Given the description of an element on the screen output the (x, y) to click on. 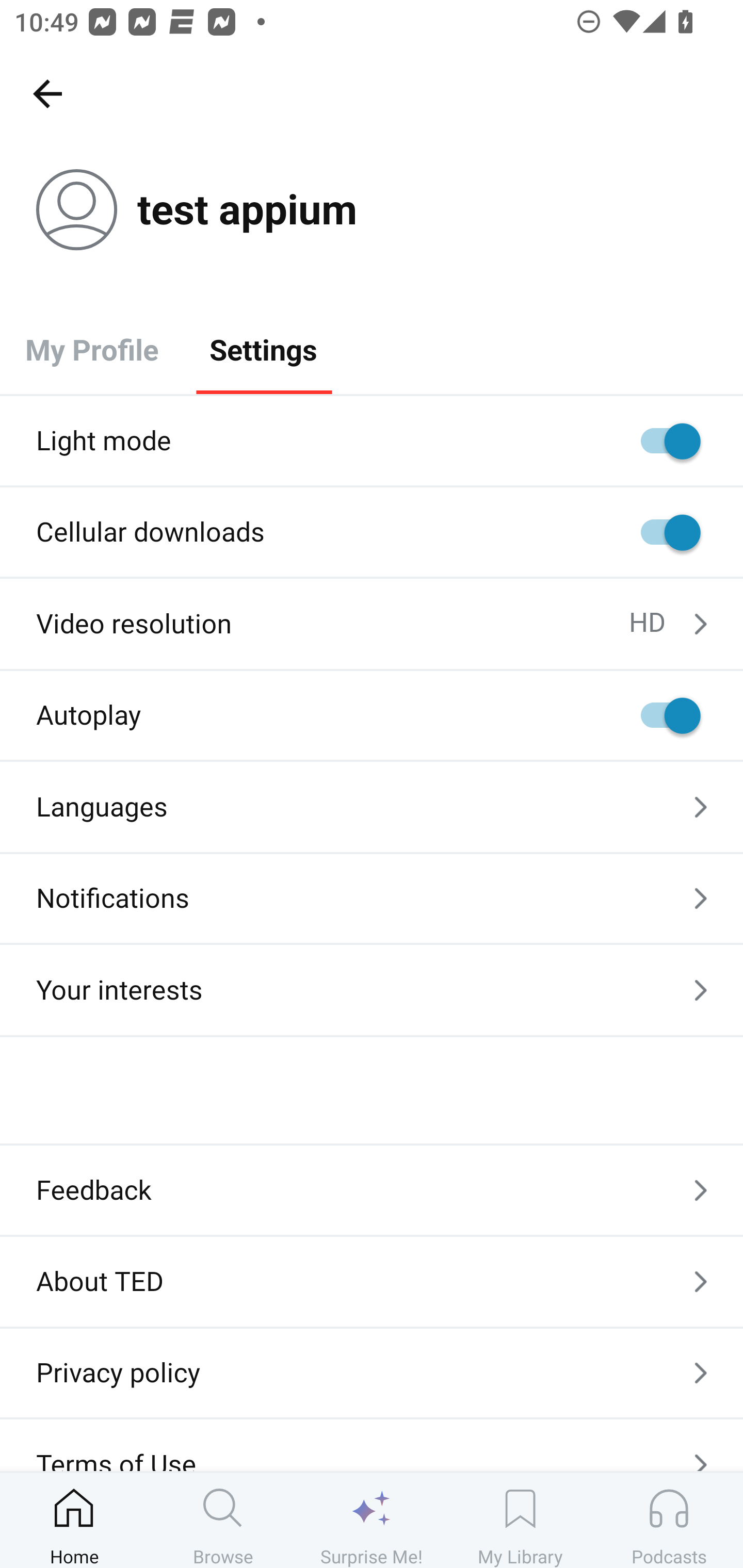
Home, back (47, 92)
My Profile (92, 348)
Settings (263, 348)
Video resolution HD (371, 623)
Languages (371, 806)
Notifications (371, 897)
Your interests (371, 989)
Feedback (371, 1190)
About TED (371, 1281)
Privacy policy (371, 1372)
Home (74, 1520)
Browse (222, 1520)
Surprise Me! (371, 1520)
My Library (519, 1520)
Podcasts (668, 1520)
